Given the description of an element on the screen output the (x, y) to click on. 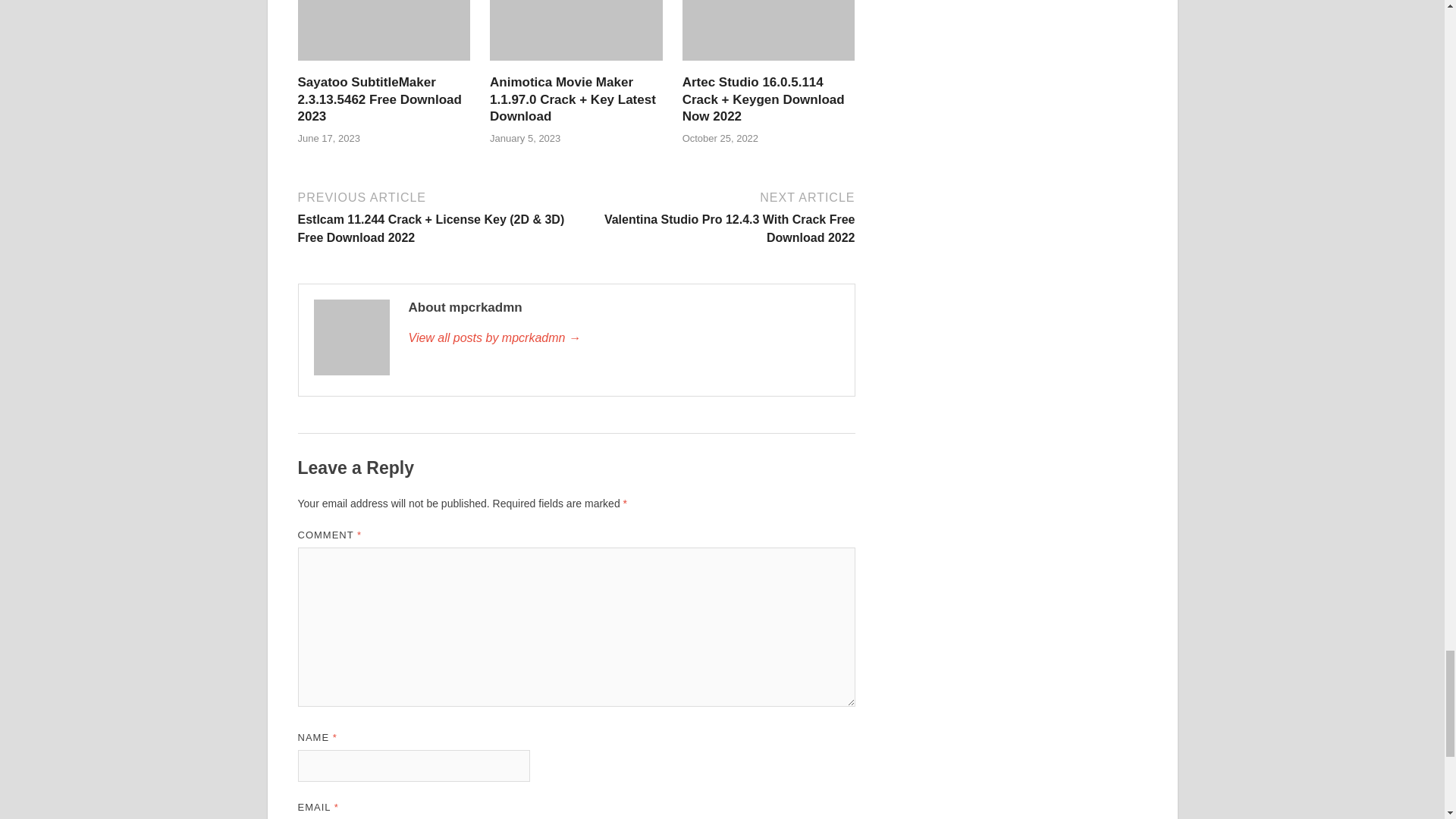
Sayatoo SubtitleMaker 2.3.13.5462 Free Download 2023 (379, 98)
mpcrkadmn (622, 338)
Sayatoo SubtitleMaker 2.3.13.5462 Free Download 2023 (383, 64)
